Given the description of an element on the screen output the (x, y) to click on. 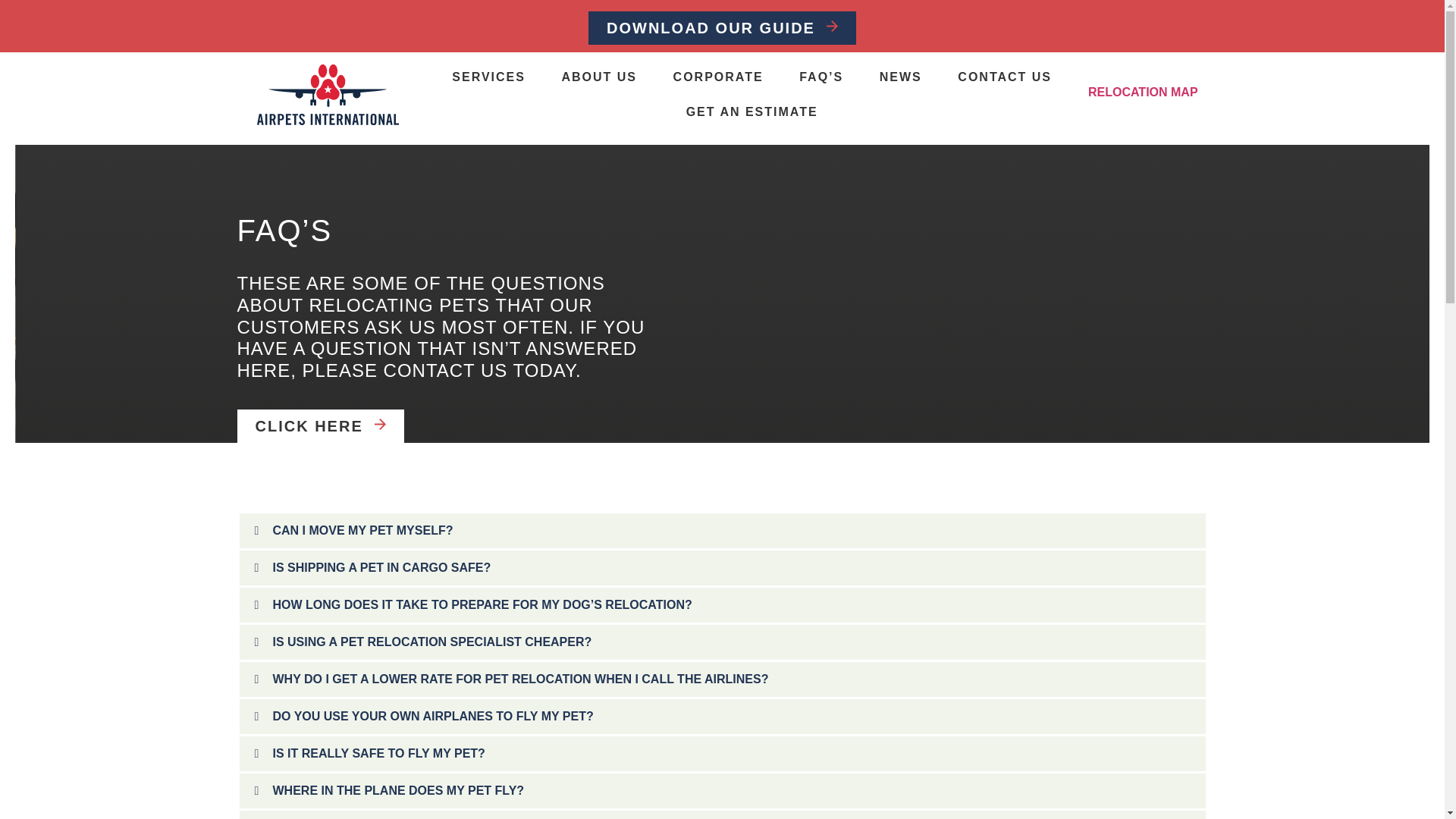
CONTACT US (1005, 77)
CORPORATE (718, 77)
IS USING A PET RELOCATION SPECIALIST CHEAPER? (432, 641)
SERVICES (488, 77)
DO YOU USE YOUR OWN AIRPLANES TO FLY MY PET? (433, 716)
DOWNLOAD OUR GUIDE (722, 28)
IS SHIPPING A PET IN CARGO SAFE? (382, 567)
IS IT REALLY SAFE TO FLY MY PET? (378, 753)
RELOCATION MAP (1142, 91)
CAN I MOVE MY PET MYSELF? (362, 530)
